Given the description of an element on the screen output the (x, y) to click on. 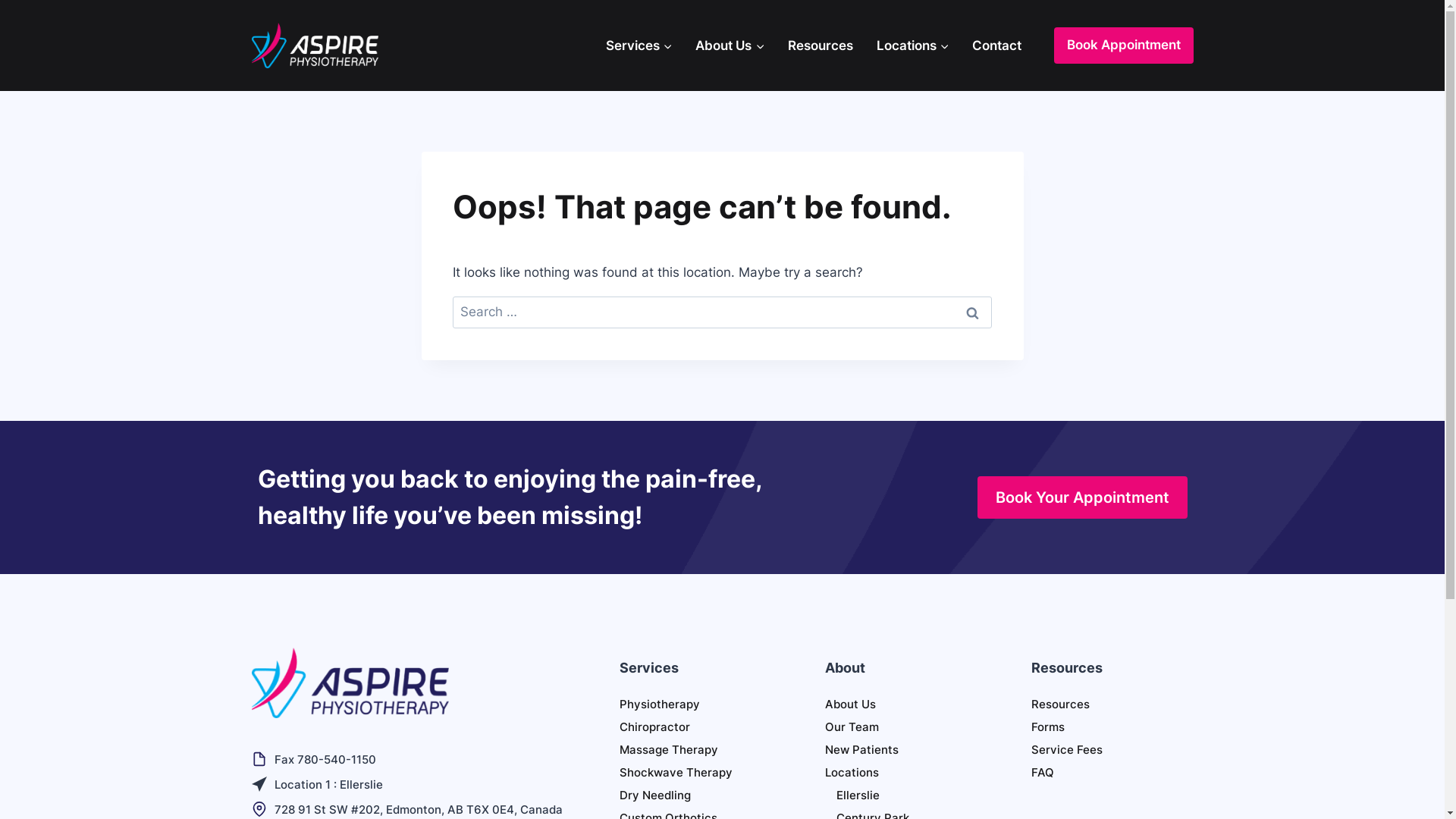
Search Element type: text (972, 312)
FAQ Element type: text (1112, 772)
Resources Element type: text (1112, 704)
Locations Element type: text (906, 772)
Our Team Element type: text (906, 726)
About Us Element type: text (730, 45)
Service Fees Element type: text (1112, 749)
New Patients Element type: text (906, 749)
Resources Element type: text (820, 45)
Book Appointment Element type: text (1123, 45)
728 91 St SW #202, Edmonton, AB T6X 0E4, Canada Element type: text (418, 809)
Chiropractor Element type: text (700, 726)
Ellerslie Element type: text (911, 795)
Massage Therapy Element type: text (700, 749)
Dry Needling Element type: text (700, 795)
Physiotherapy Element type: text (700, 704)
Contact Element type: text (996, 45)
Locations Element type: text (912, 45)
Book Your Appointment Element type: text (1081, 497)
Shockwave Therapy Element type: text (700, 772)
Services Element type: text (639, 45)
Forms Element type: text (1112, 726)
About Us Element type: text (906, 704)
